Given the description of an element on the screen output the (x, y) to click on. 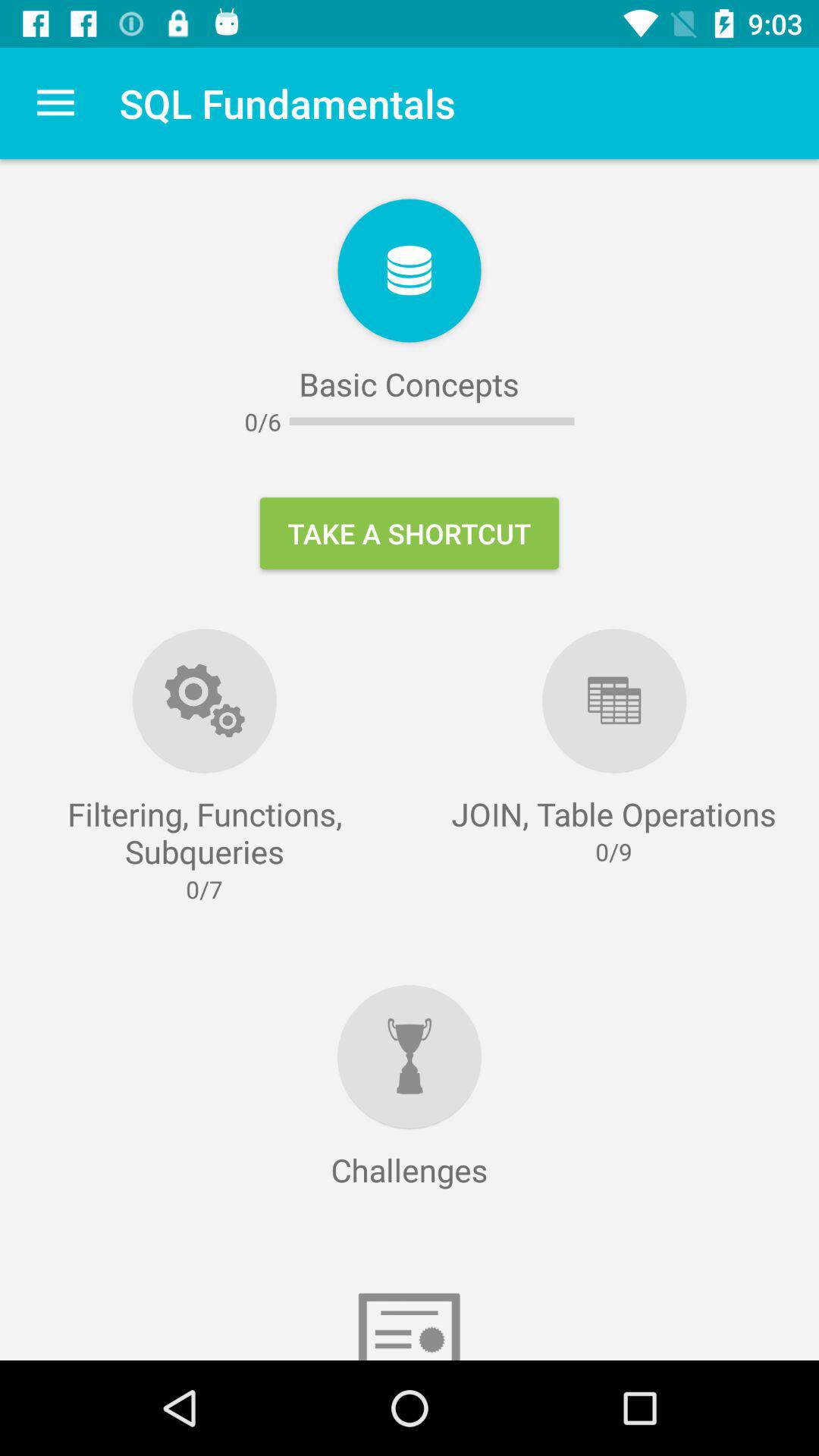
launch item at the center (409, 533)
